Given the description of an element on the screen output the (x, y) to click on. 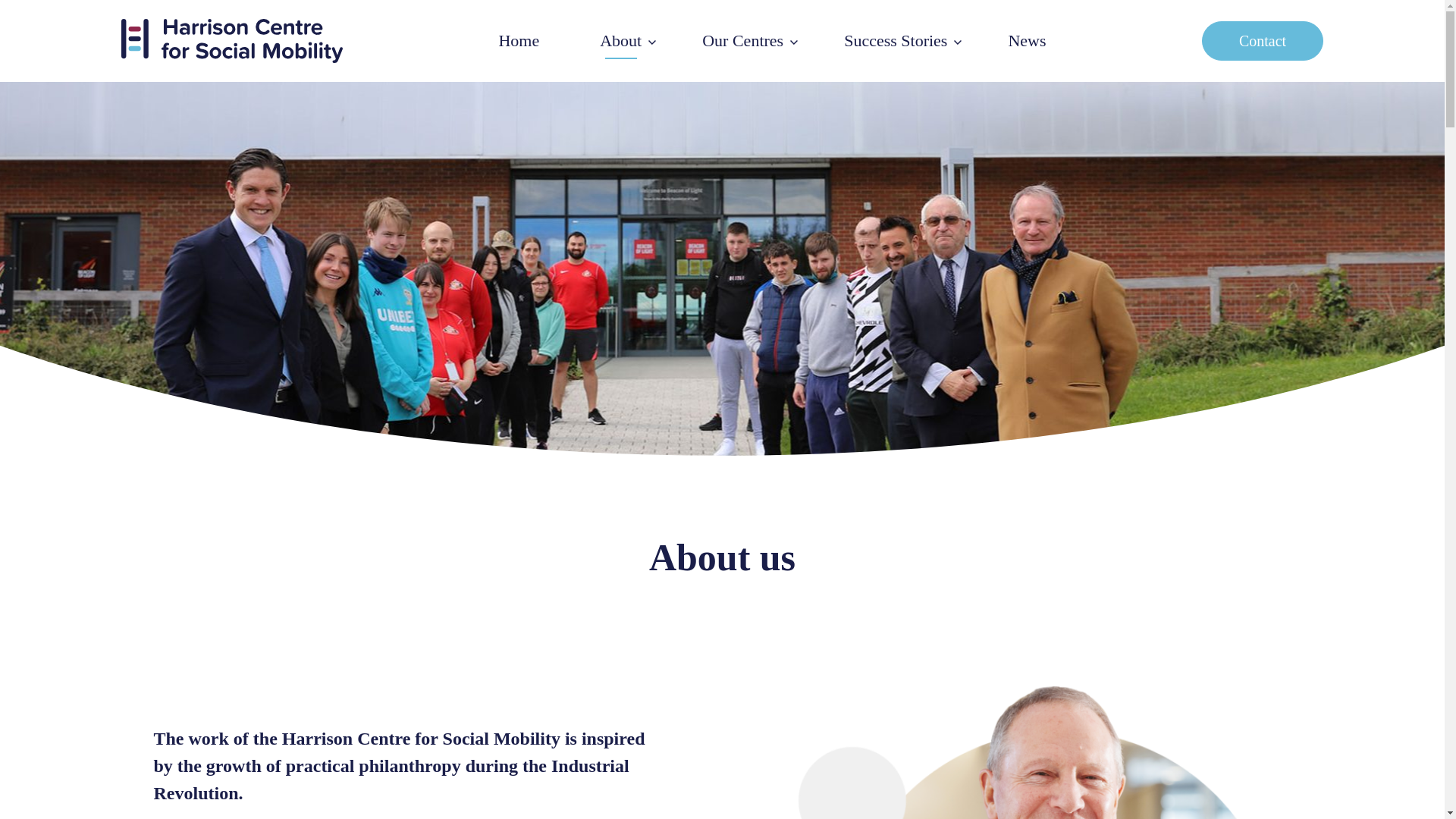
Contact (1262, 40)
Our Centres (742, 40)
Success Stories (895, 40)
About (620, 40)
News (1026, 40)
Home (518, 40)
